Given the description of an element on the screen output the (x, y) to click on. 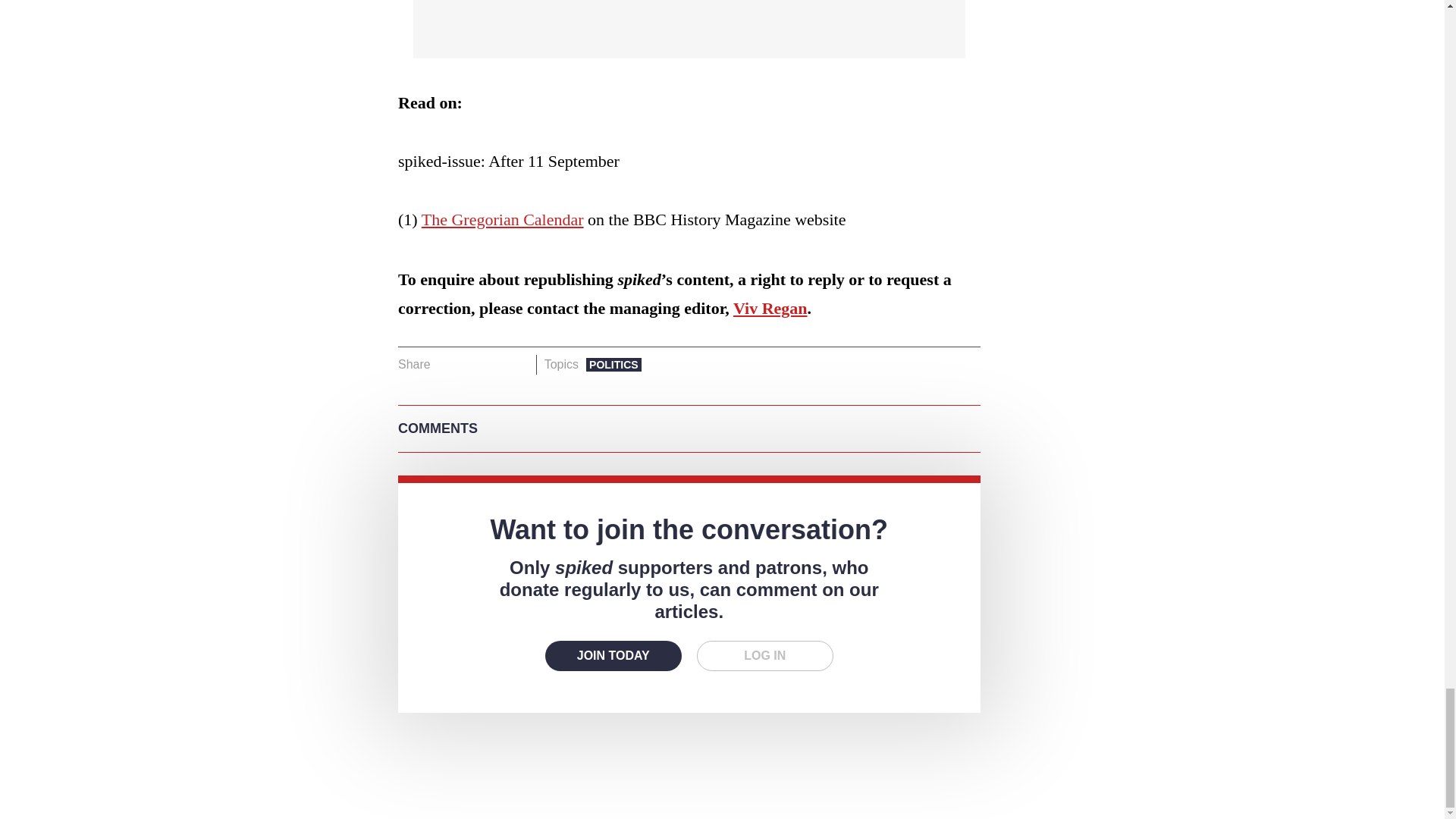
Share on Facebook (448, 364)
Share on Whatsapp (494, 364)
Share on Email (518, 364)
Share on Twitter (471, 364)
